Given the description of an element on the screen output the (x, y) to click on. 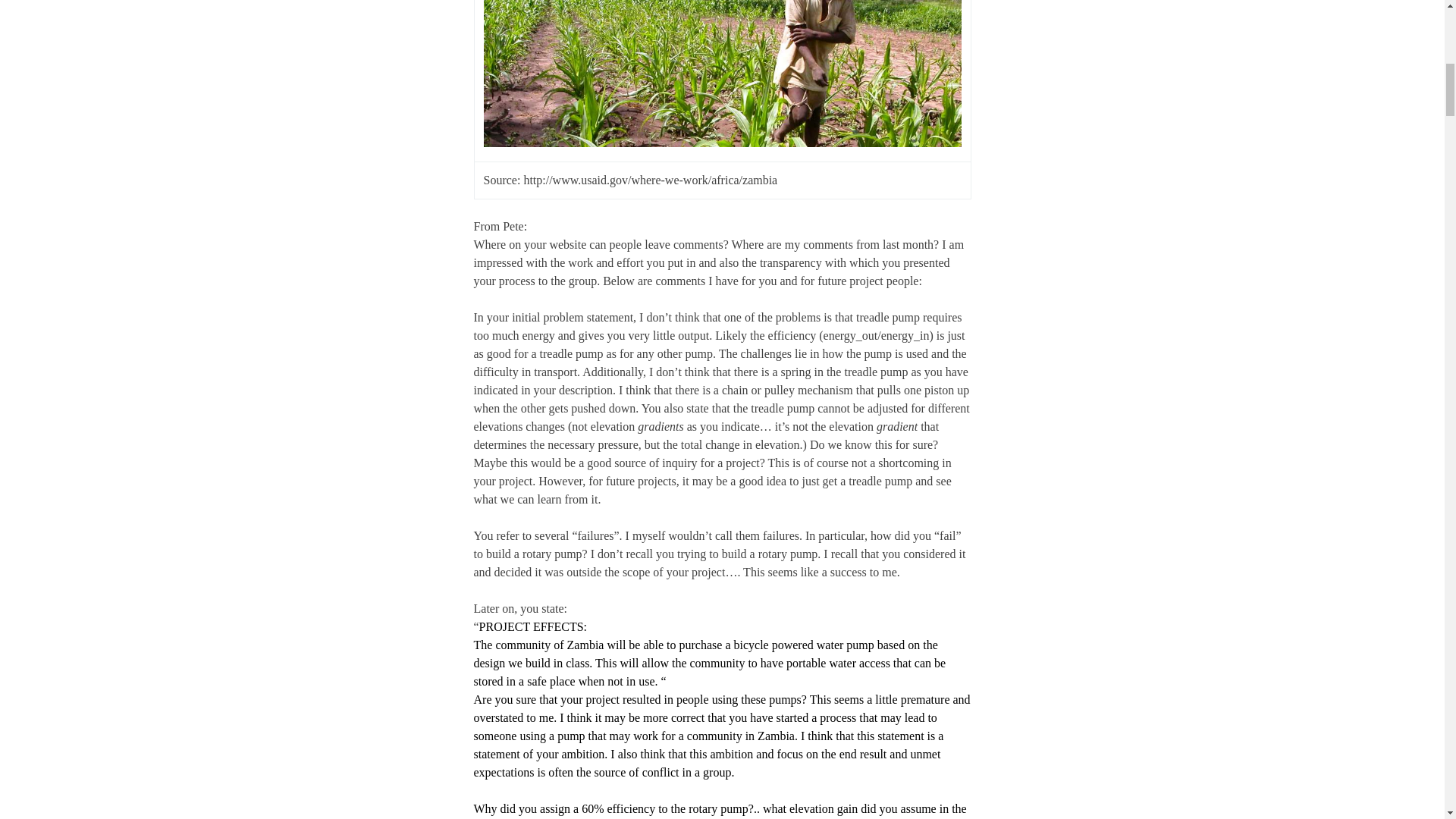
Zambia farm.jpg (721, 73)
